Given the description of an element on the screen output the (x, y) to click on. 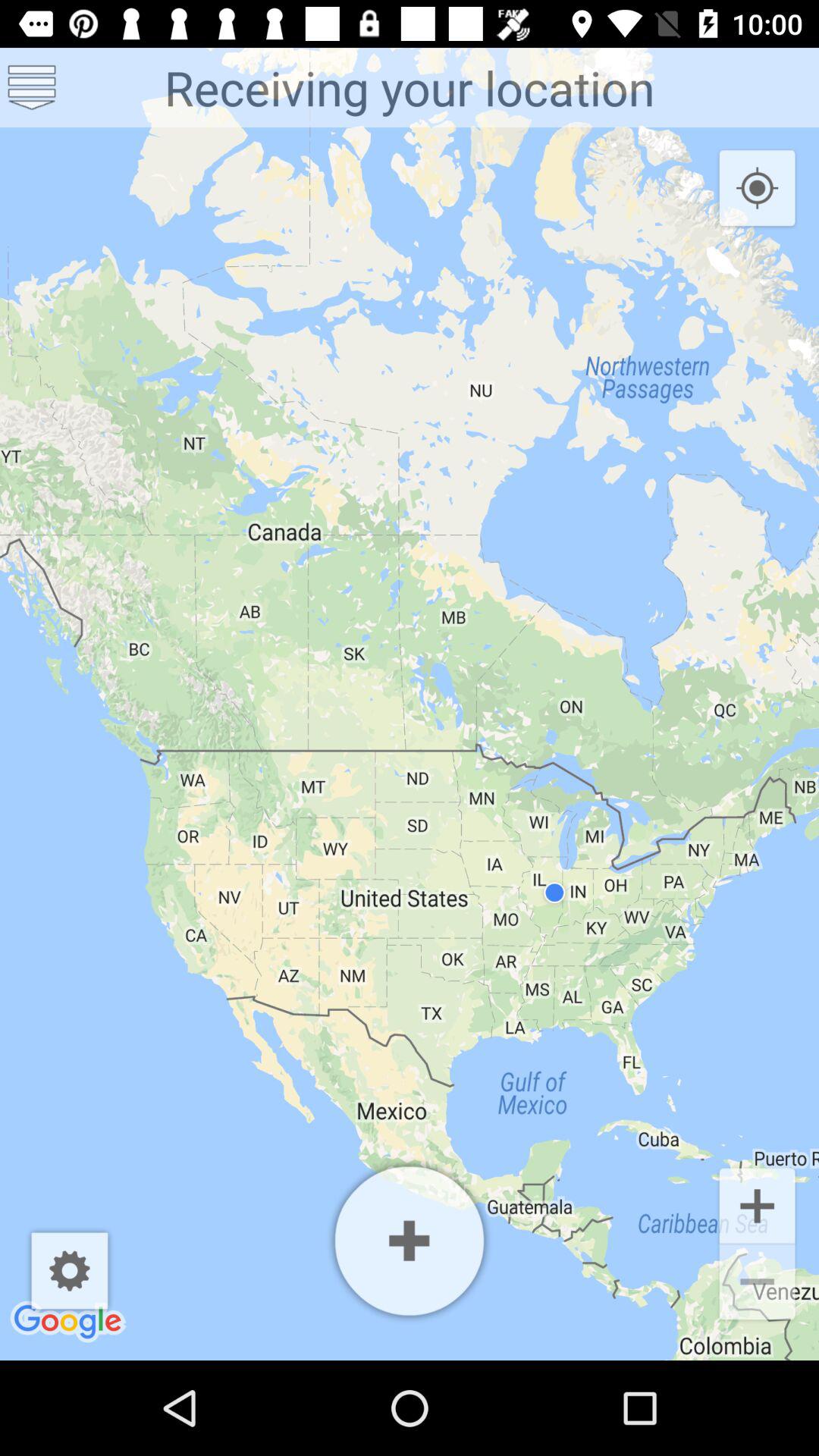
drop down menu (31, 87)
